Given the description of an element on the screen output the (x, y) to click on. 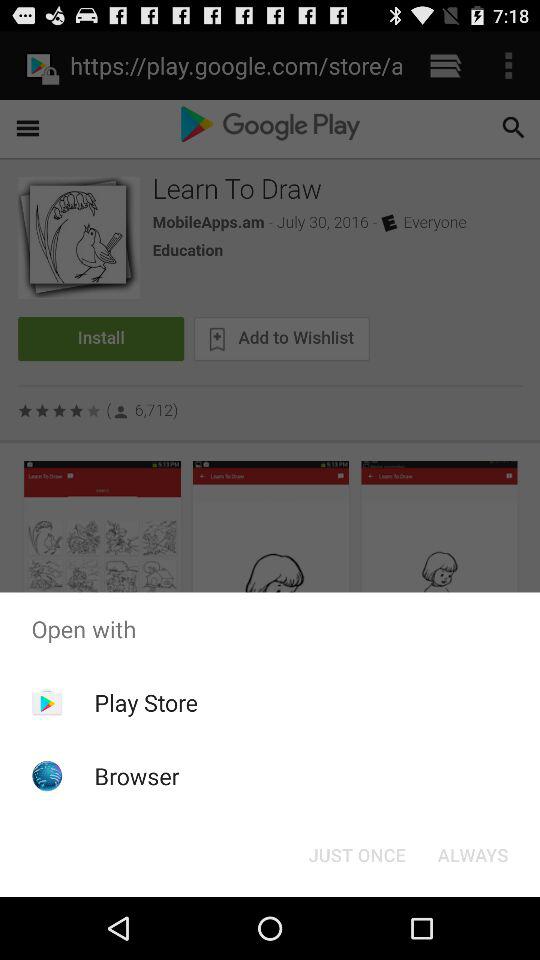
scroll until the always button (472, 854)
